Given the description of an element on the screen output the (x, y) to click on. 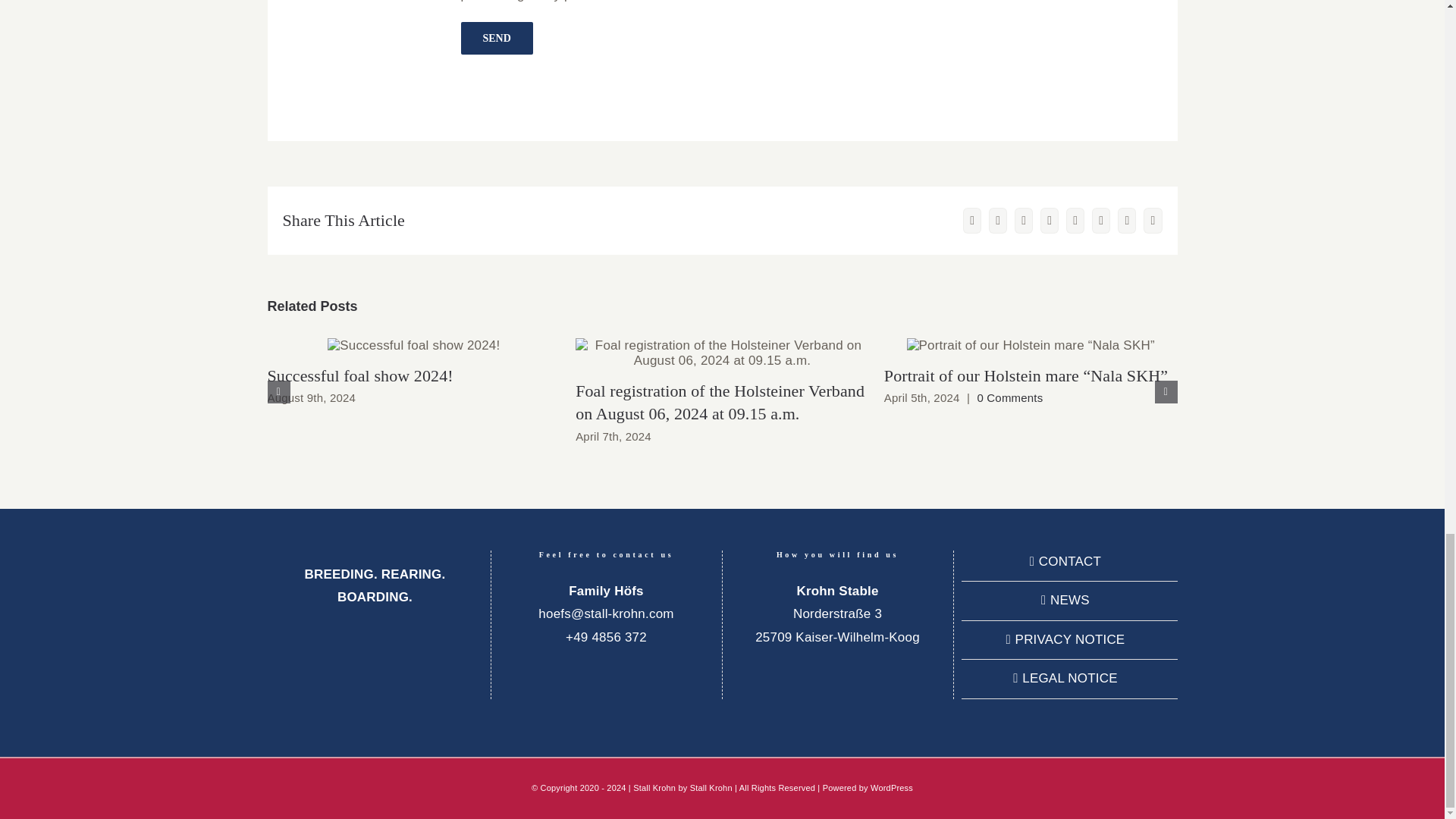
Successful foal show 2024! (359, 374)
Send (496, 38)
Send (496, 38)
